Given the description of an element on the screen output the (x, y) to click on. 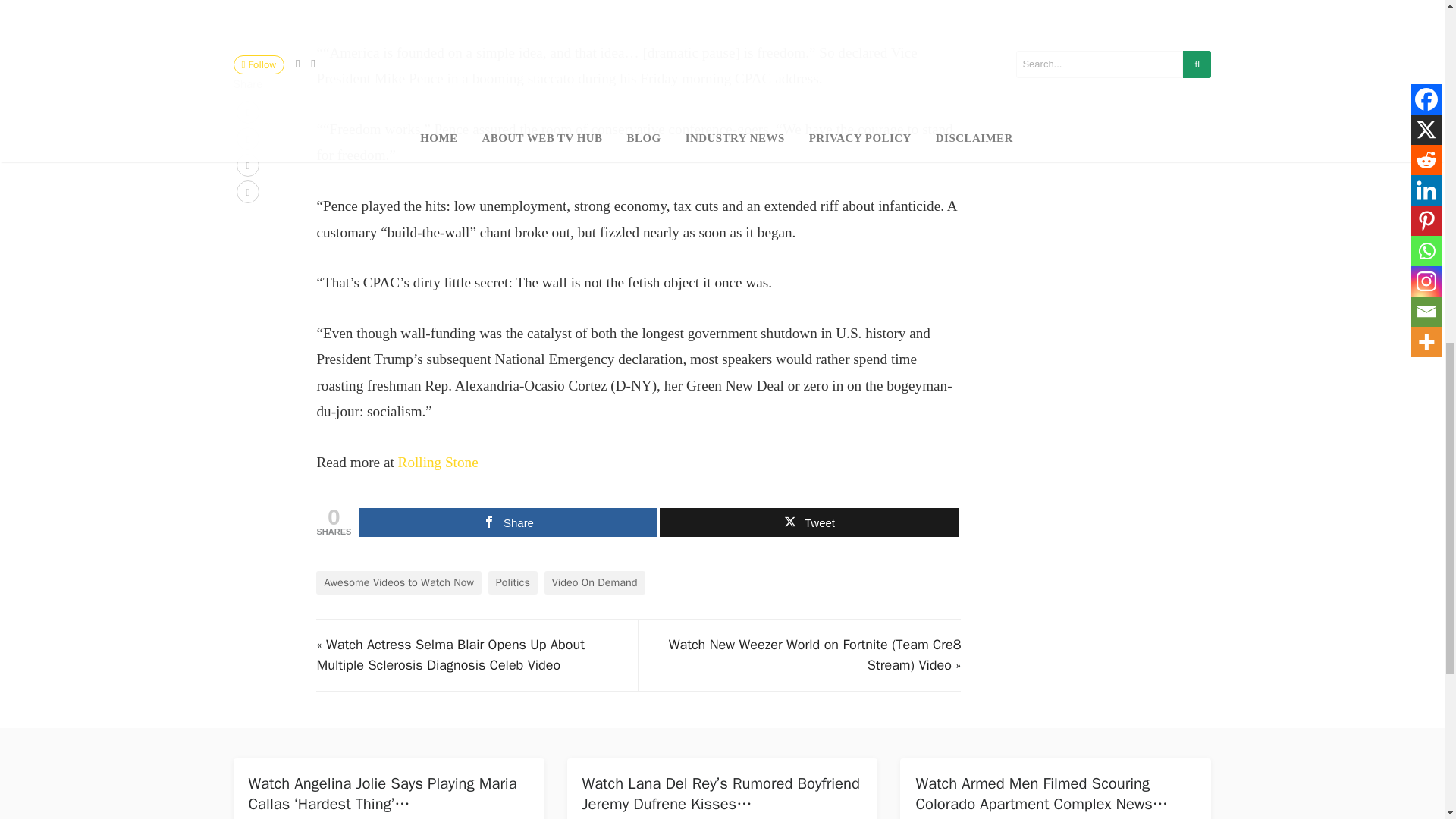
Rolling Stone (438, 462)
Tweet (808, 522)
Share (508, 522)
